Given the description of an element on the screen output the (x, y) to click on. 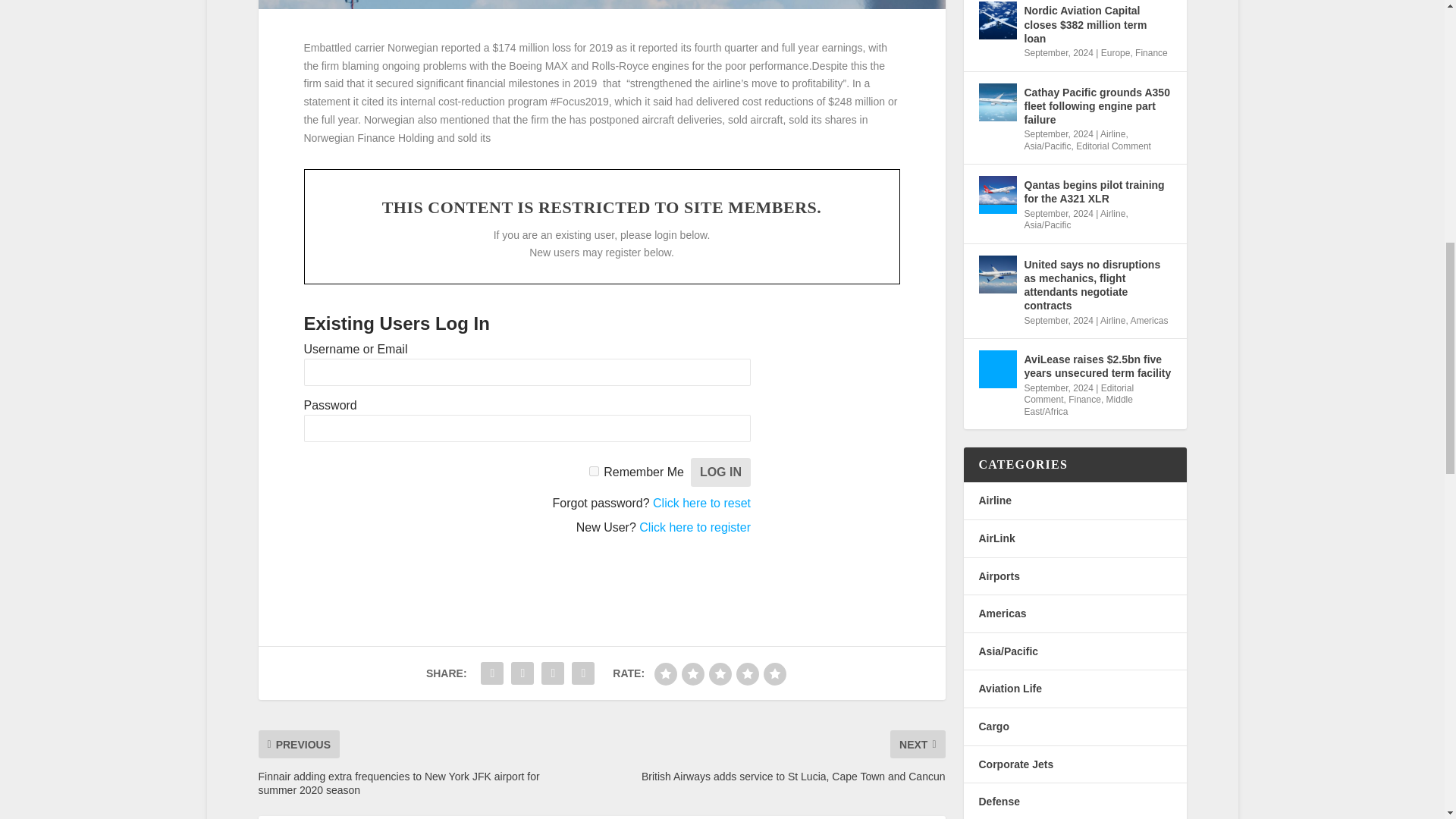
bad (665, 673)
good (747, 673)
forever (593, 470)
Log In (720, 471)
poor (692, 673)
regular (720, 673)
gorgeous (774, 673)
